Given the description of an element on the screen output the (x, y) to click on. 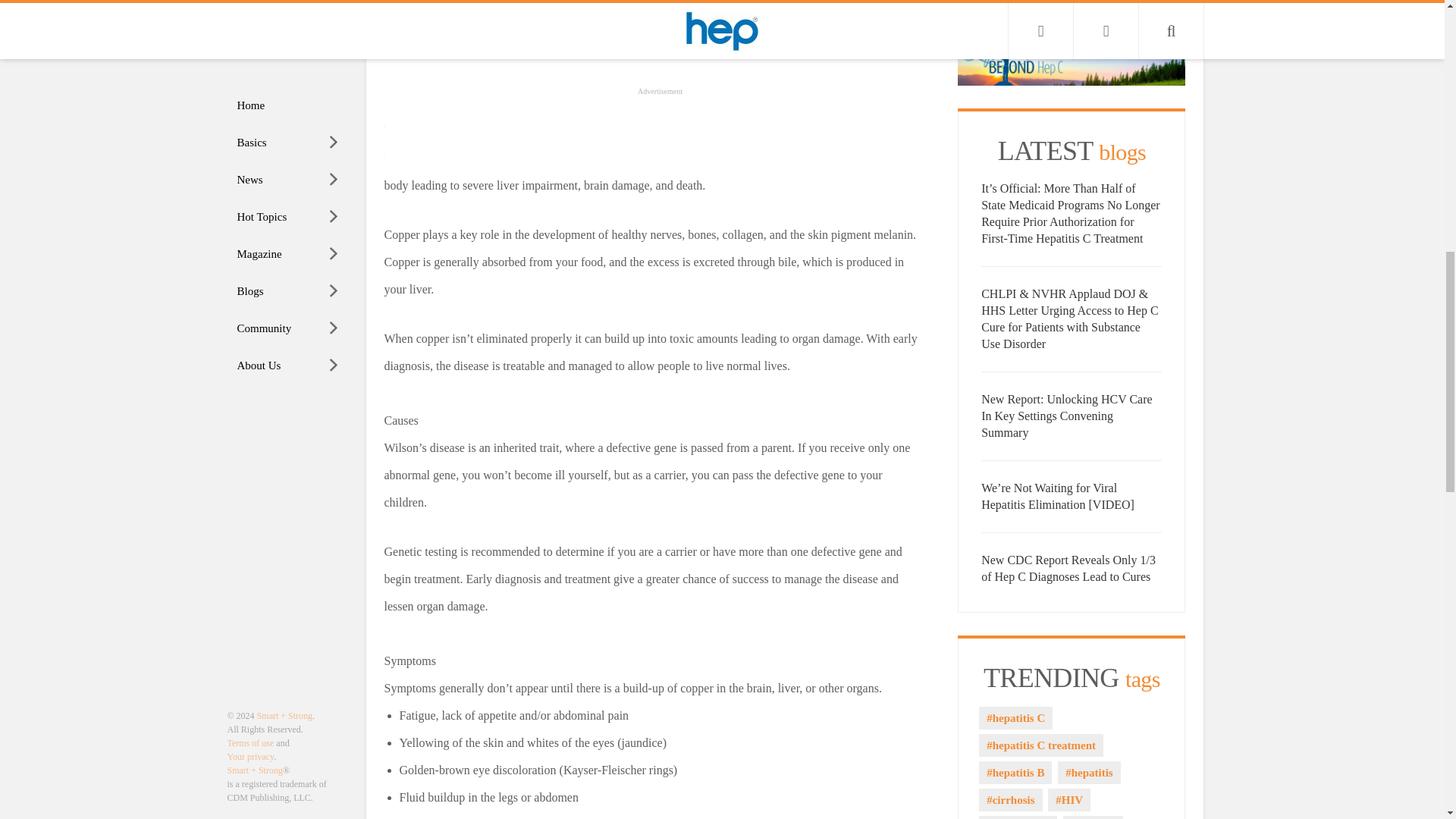
3rd party ad content (651, 43)
